Given the description of an element on the screen output the (x, y) to click on. 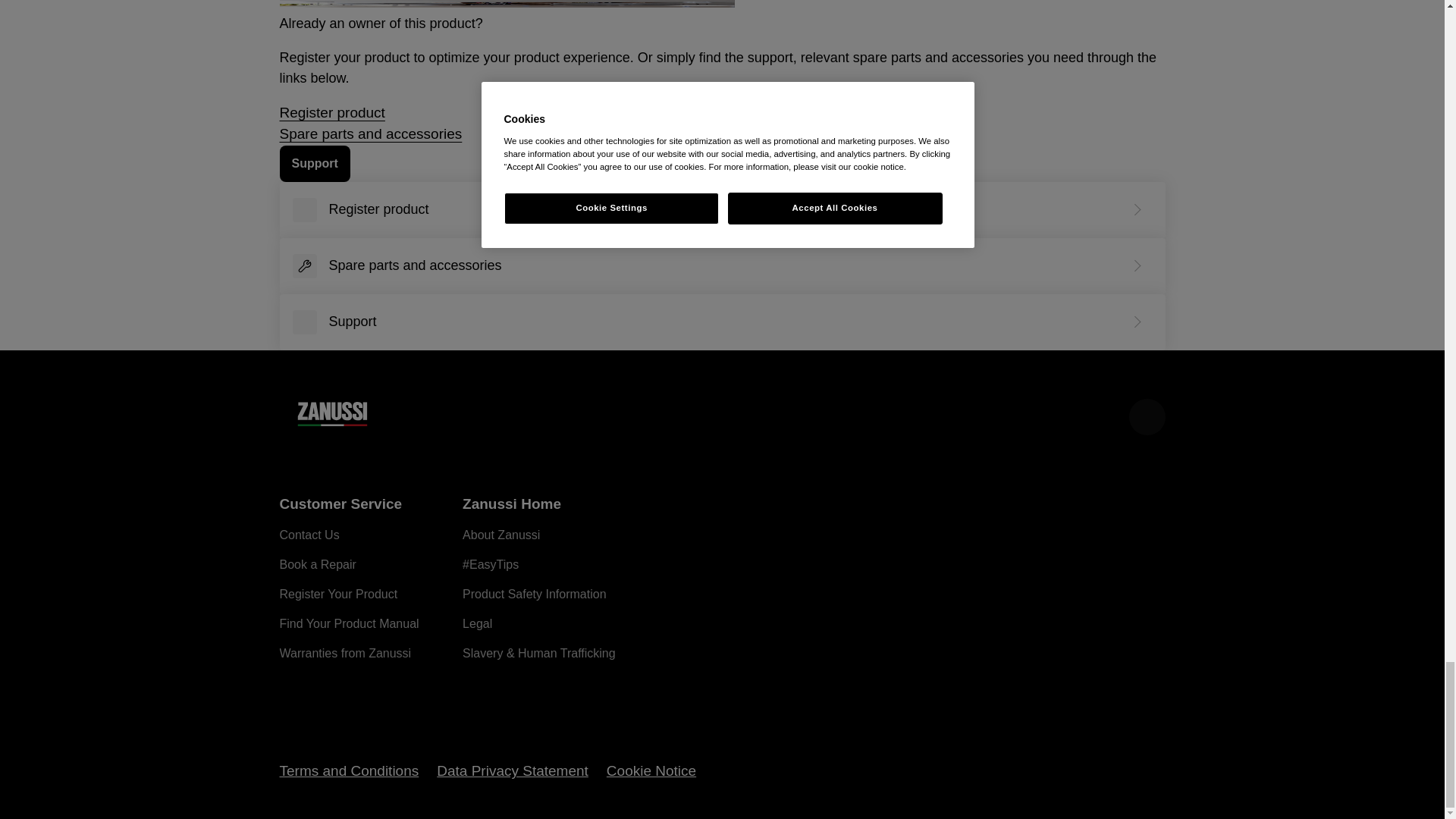
Product Safety Information (534, 594)
About Zanussi (501, 534)
Terms and Conditions (349, 770)
Find Your Product Manual (349, 623)
Contact Us (309, 534)
Warranties from Zanussi (344, 653)
Register Your Product (338, 594)
